Given the description of an element on the screen output the (x, y) to click on. 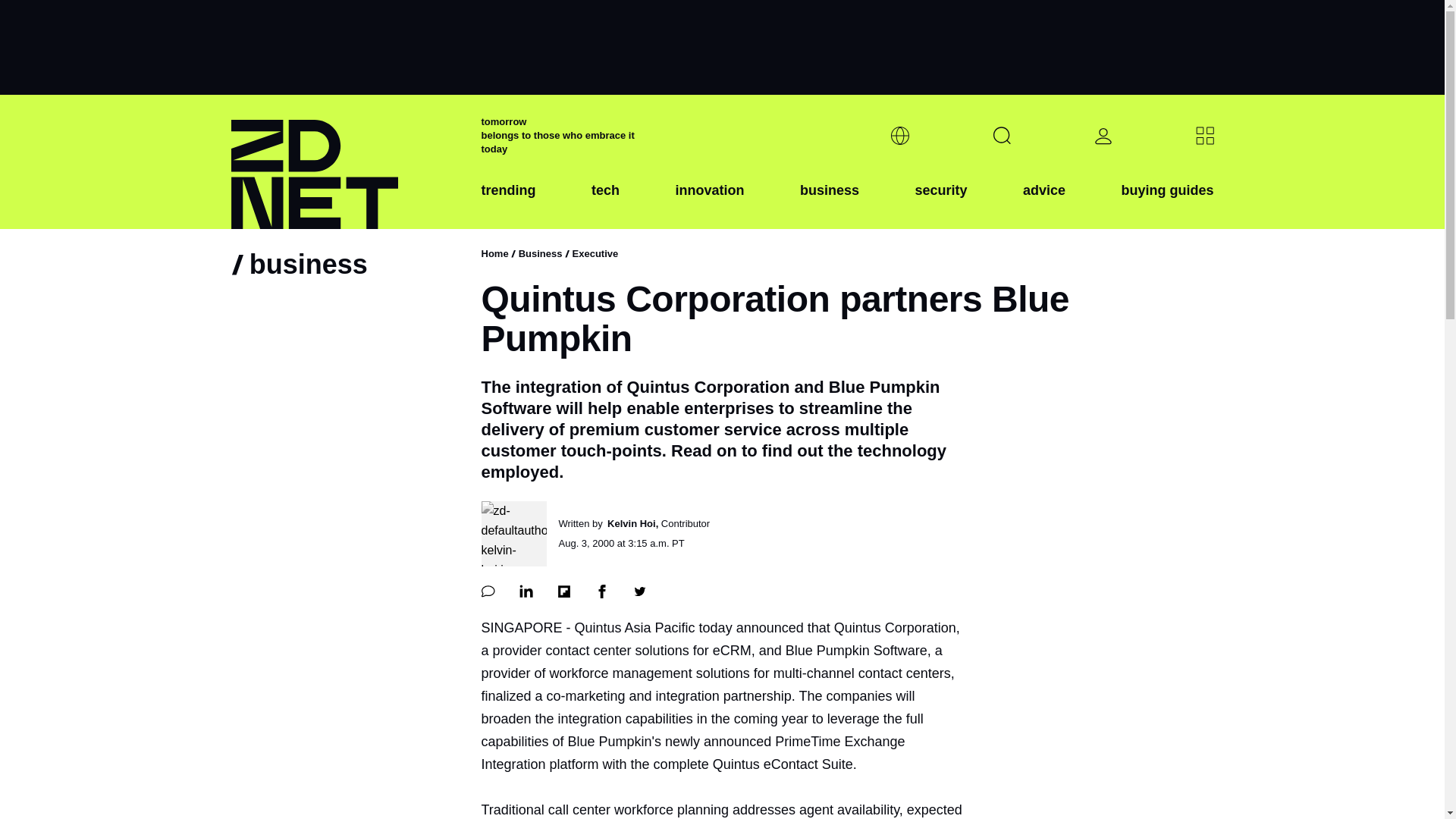
tech (605, 202)
trending (507, 202)
ZDNET (346, 162)
